Given the description of an element on the screen output the (x, y) to click on. 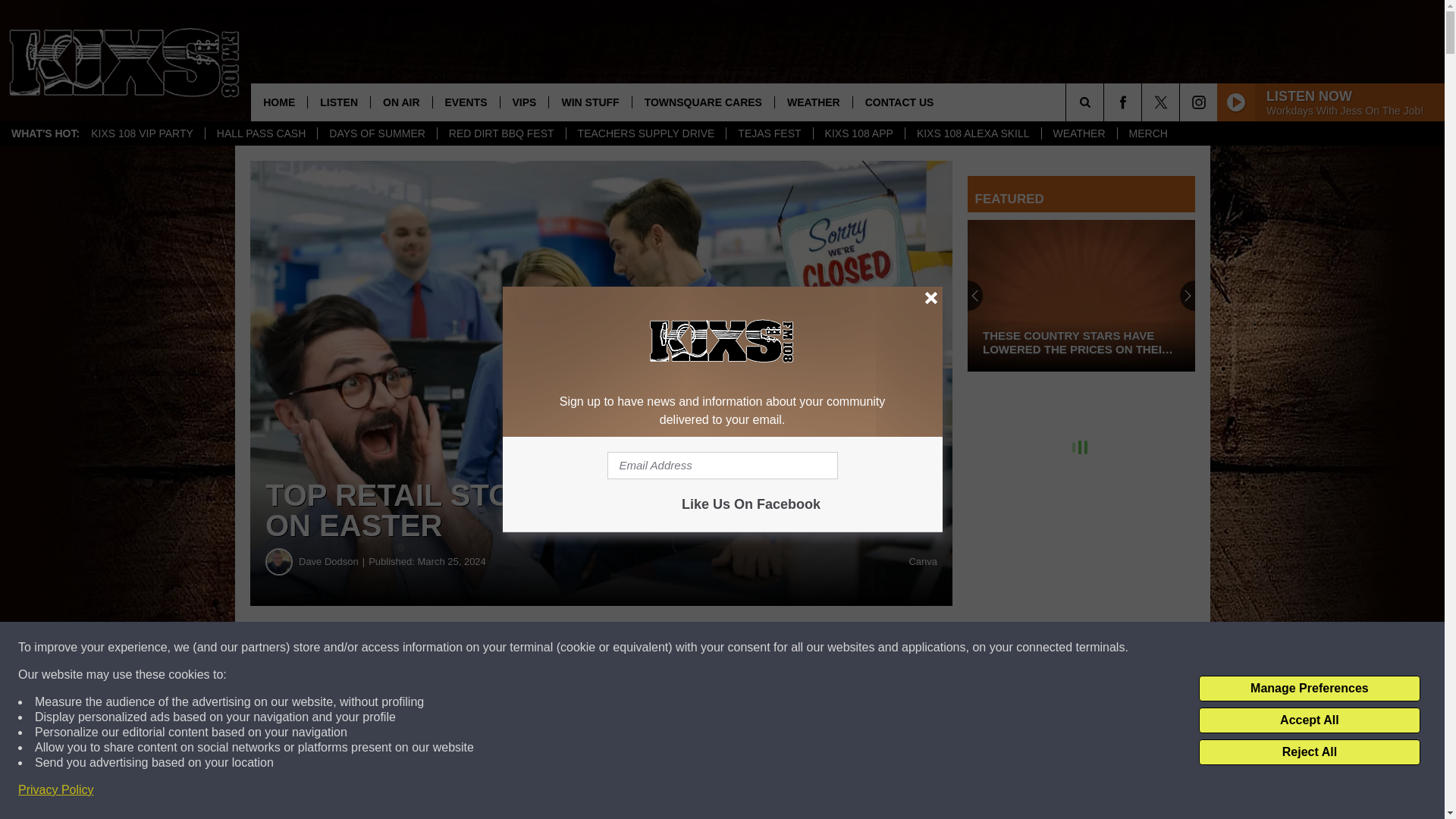
TOWNSQUARE CARES (702, 102)
EVENTS (465, 102)
WIN STUFF (589, 102)
KIXS 108 VIP PARTY (142, 133)
Accept All (1309, 720)
KIXS 108 APP (858, 133)
RED DIRT BBQ FEST (501, 133)
VIPS (523, 102)
WEATHER (812, 102)
HALL PASS CASH (261, 133)
ON AIR (399, 102)
Privacy Policy (55, 789)
Share on Facebook (460, 647)
LISTEN (338, 102)
CONTACT US (898, 102)
